Given the description of an element on the screen output the (x, y) to click on. 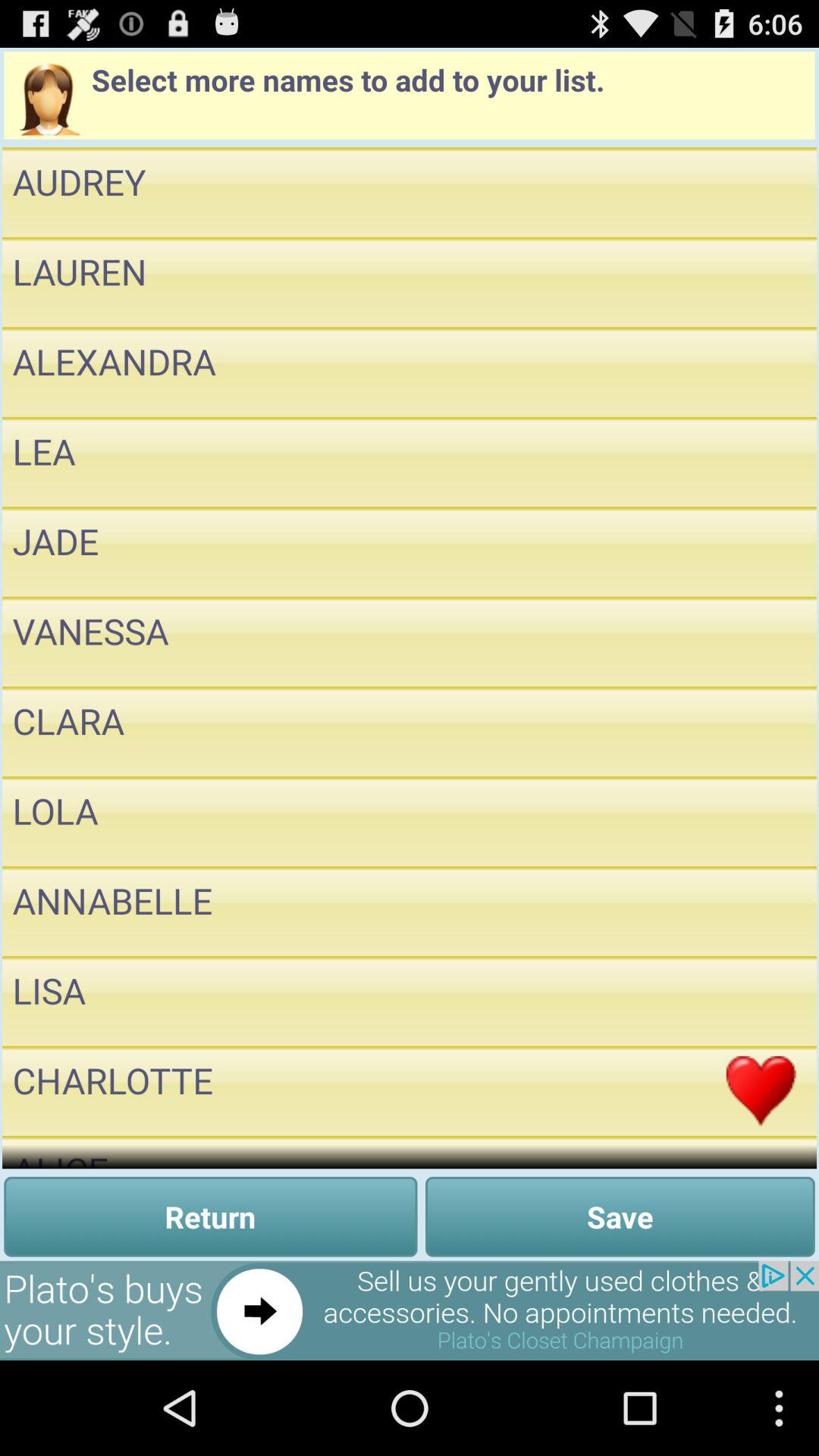
to add favorite (761, 1091)
